Given the description of an element on the screen output the (x, y) to click on. 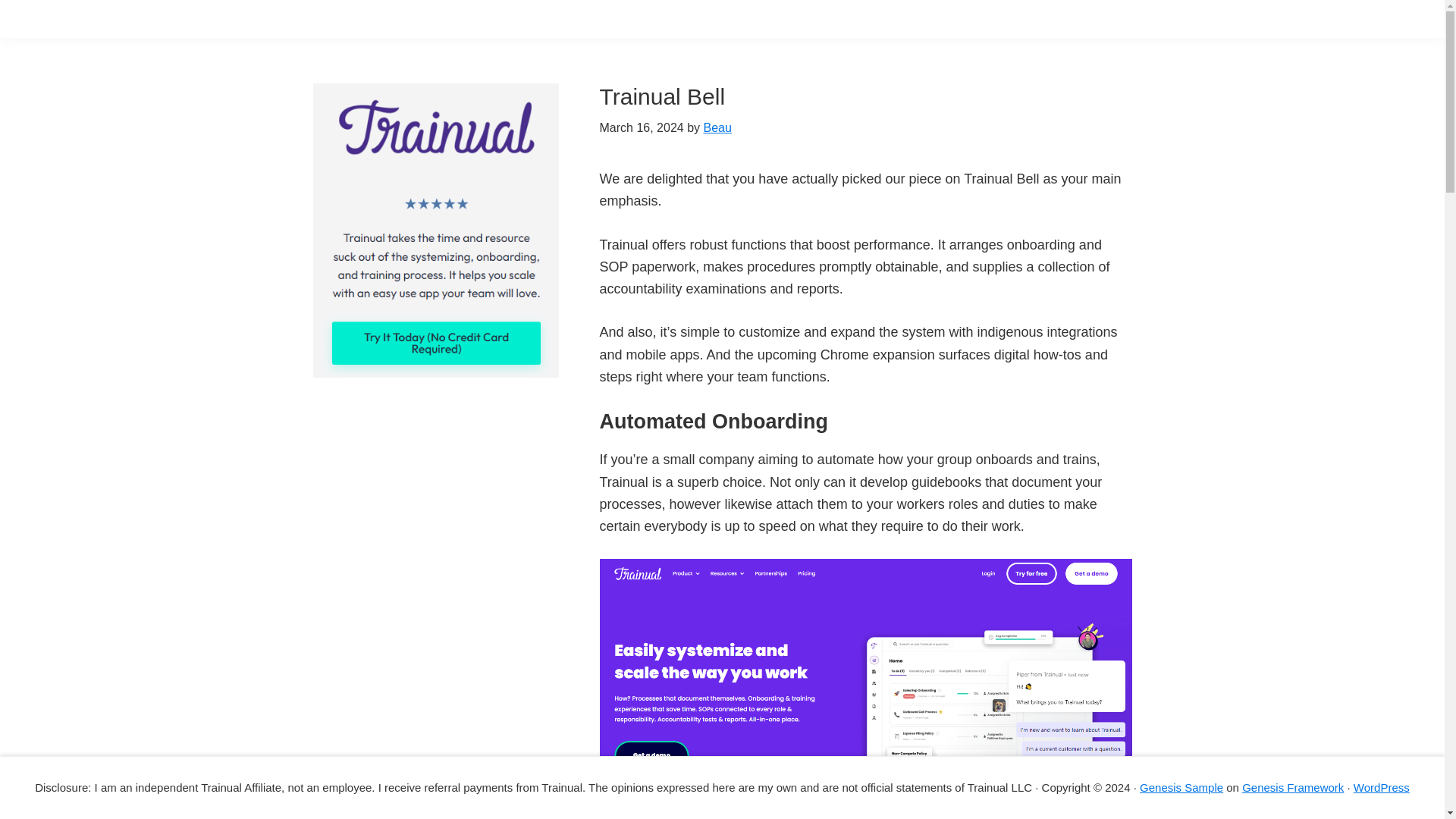
Beau (716, 127)
WordPress (1381, 787)
Genesis Framework (1292, 787)
Genesis Sample (1181, 787)
